Given the description of an element on the screen output the (x, y) to click on. 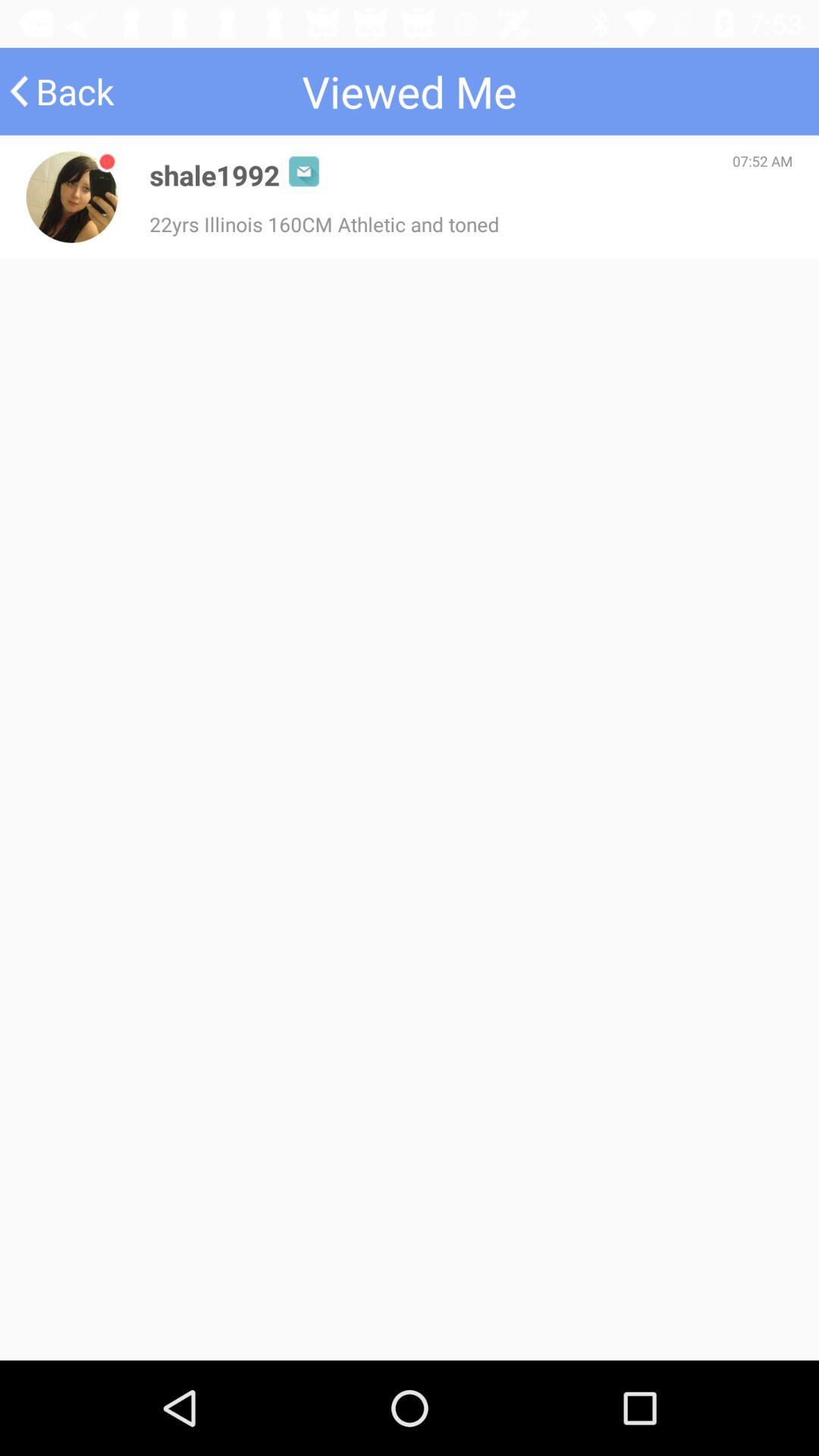
scroll to 22yrs illinois 160cm icon (324, 224)
